Given the description of an element on the screen output the (x, y) to click on. 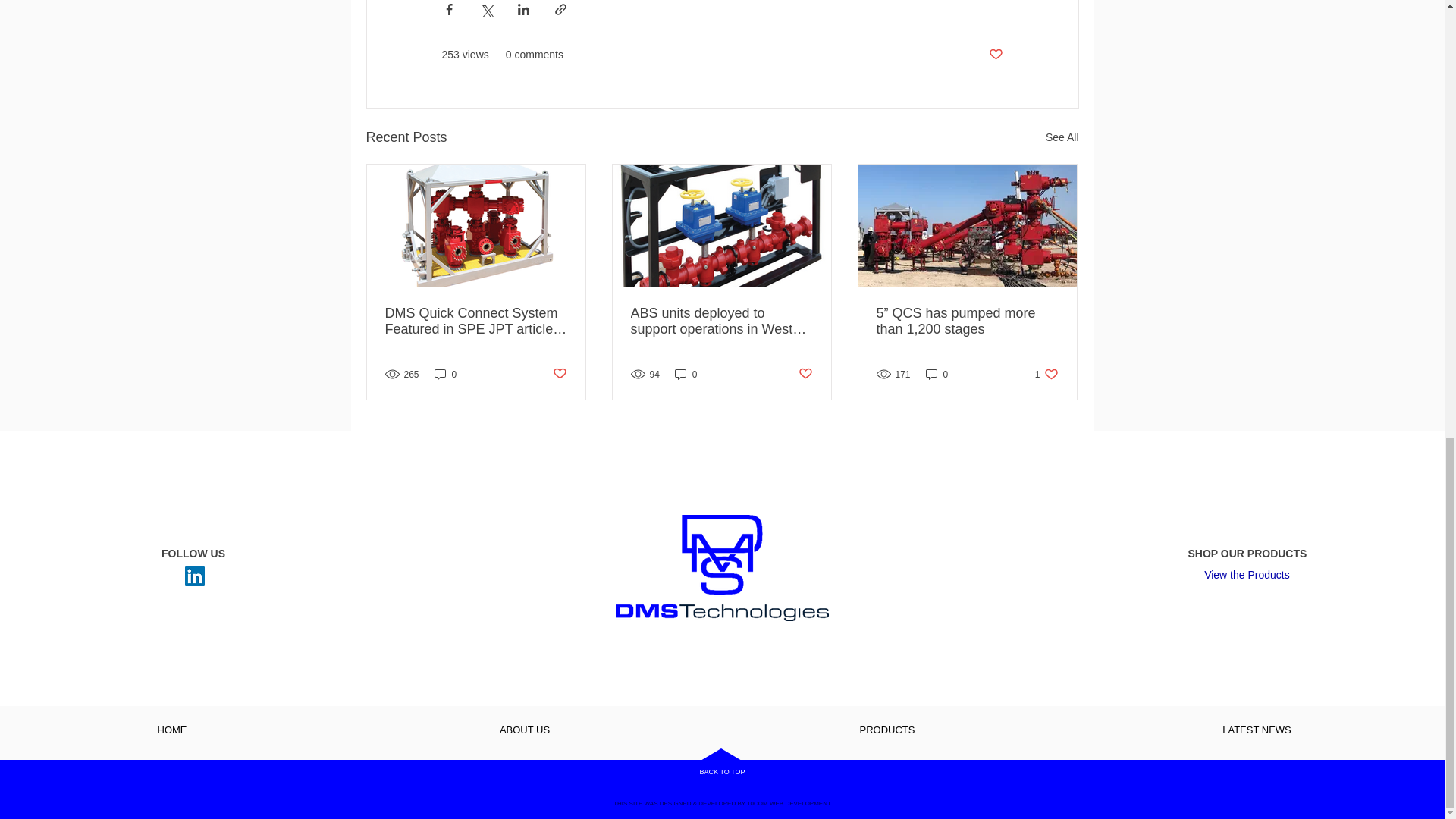
0 (937, 373)
PRODUCTS (886, 729)
ABS units deployed to support operations in West Texas (721, 321)
ABOUT US (523, 729)
Post not marked as liked (558, 374)
0 (685, 373)
See All (1061, 137)
Post not marked as liked (995, 54)
BACK TO TOP (721, 772)
